Given the description of an element on the screen output the (x, y) to click on. 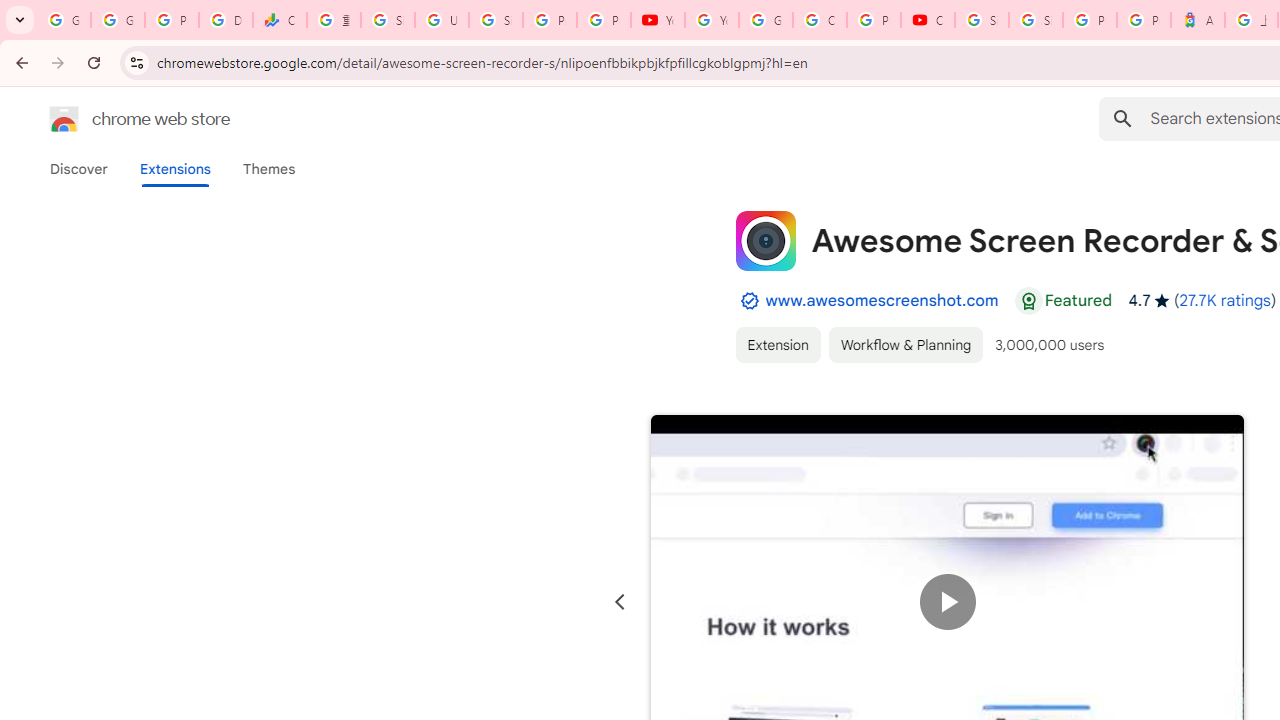
Previous slide (619, 601)
Create your Google Account (819, 20)
By Established Publisher Badge (749, 301)
Google Workspace Admin Community (63, 20)
YouTube (657, 20)
27.7K ratings (1224, 300)
Sign in - Google Accounts (1035, 20)
Atour Hotel - Google hotels (1197, 20)
